Given the description of an element on the screen output the (x, y) to click on. 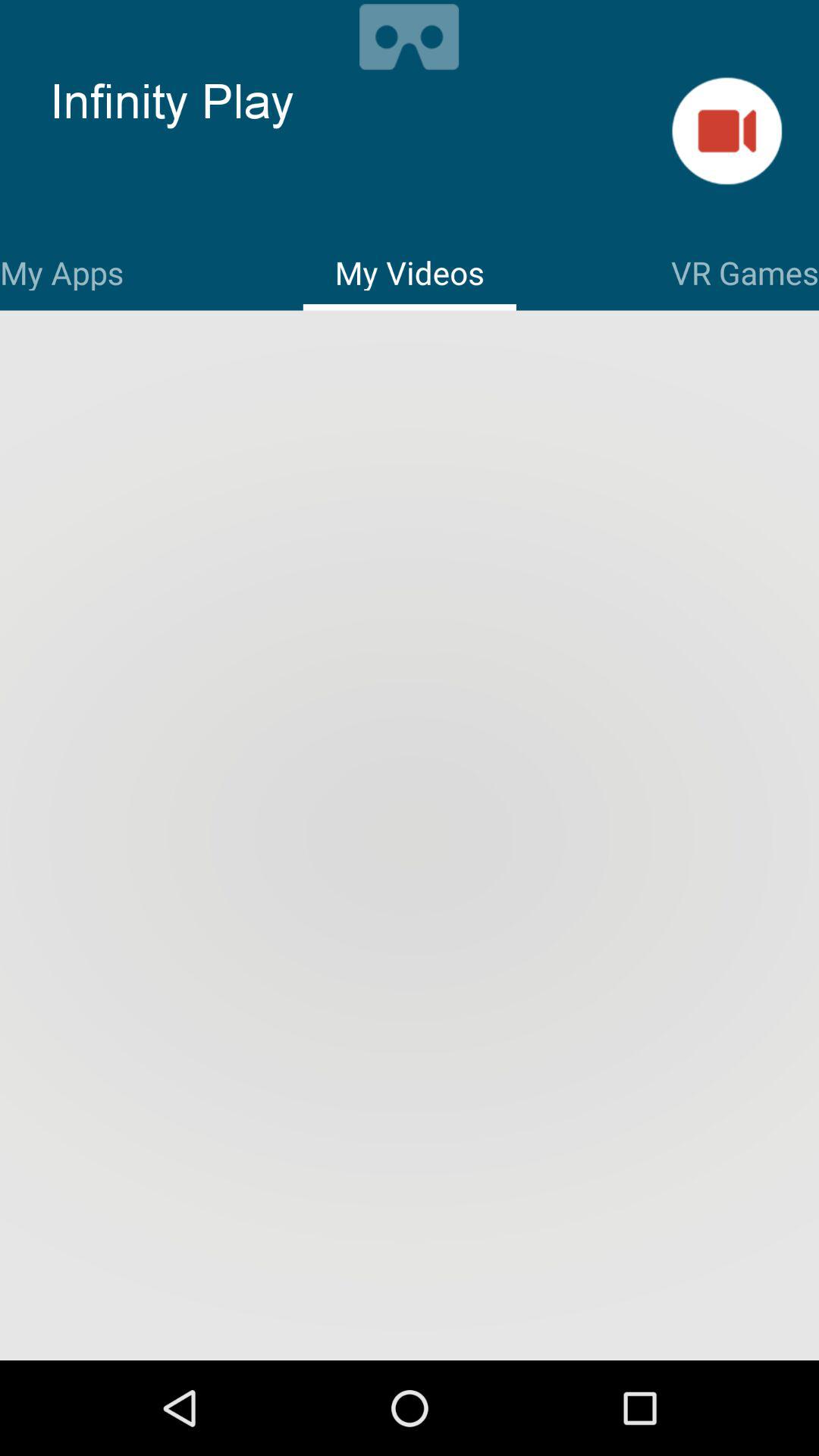
record screen (408, 34)
